Given the description of an element on the screen output the (x, y) to click on. 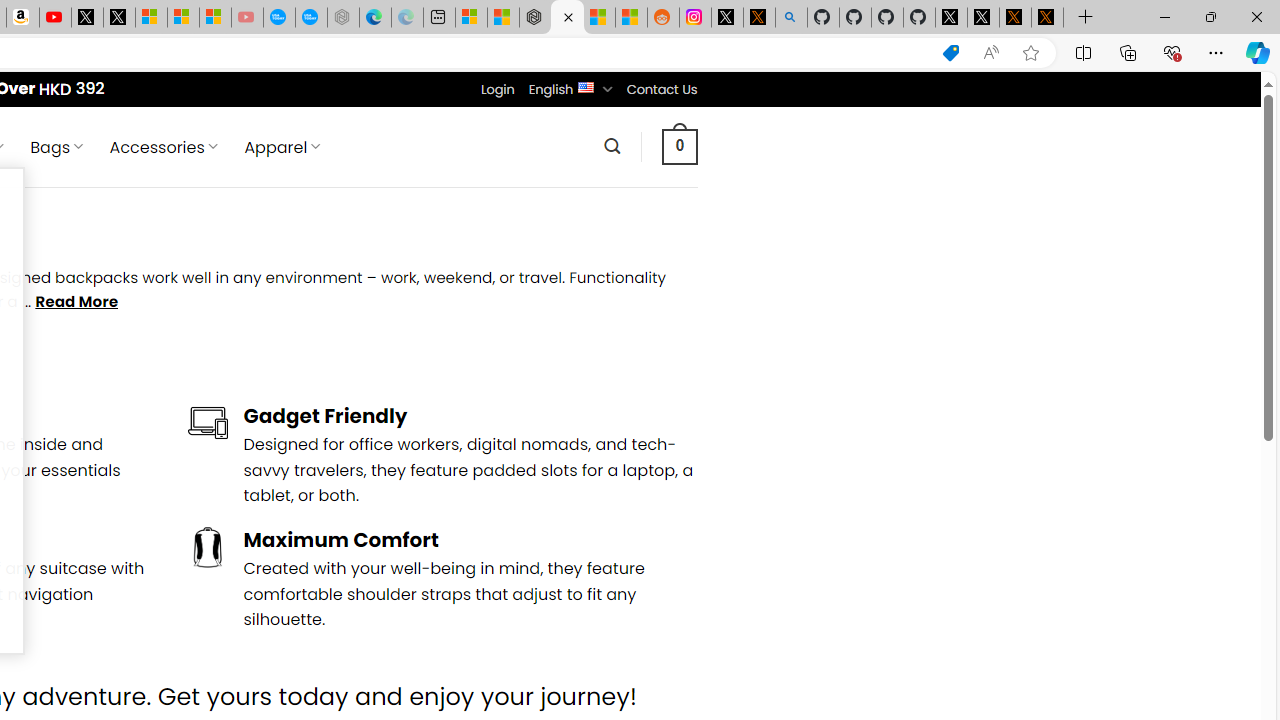
Nordace - Best Sellers (535, 17)
X Privacy Policy (1047, 17)
Nordace - Nordace has arrived Hong Kong - Sleeping (343, 17)
github - Search (791, 17)
Read aloud this page (Ctrl+Shift+U) (991, 53)
Minimize (1164, 16)
Contact Us (661, 89)
X (118, 17)
Settings and more (Alt+F) (1215, 52)
Copilot (Ctrl+Shift+.) (1258, 52)
